Given the description of an element on the screen output the (x, y) to click on. 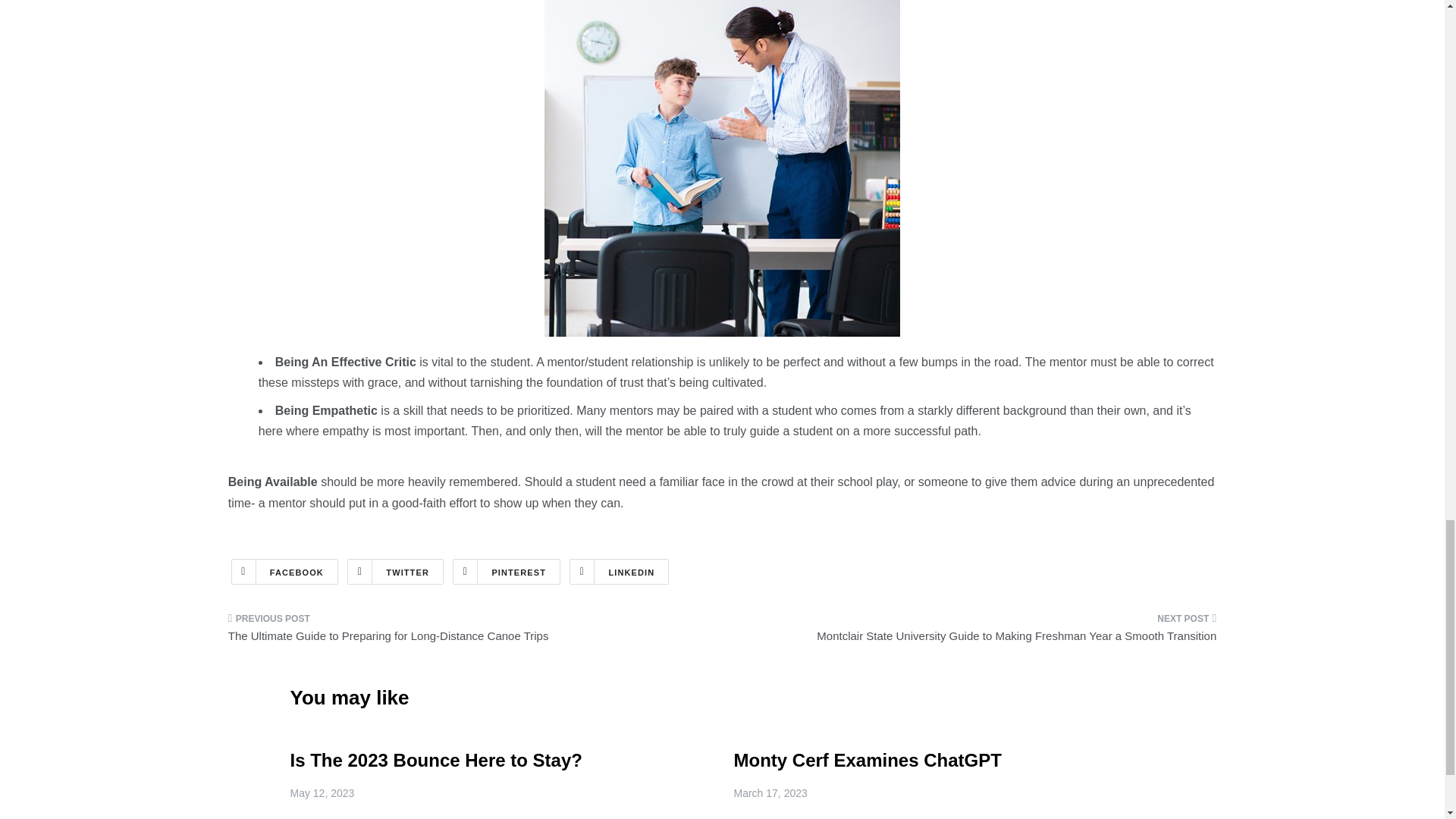
Monty Cerf Examines ChatGPT (867, 760)
FACEBOOK (284, 571)
Is The 2023 Bounce Here to Stay? (434, 760)
LINKEDIN (618, 571)
TWITTER (395, 571)
PINTEREST (506, 571)
